Given the description of an element on the screen output the (x, y) to click on. 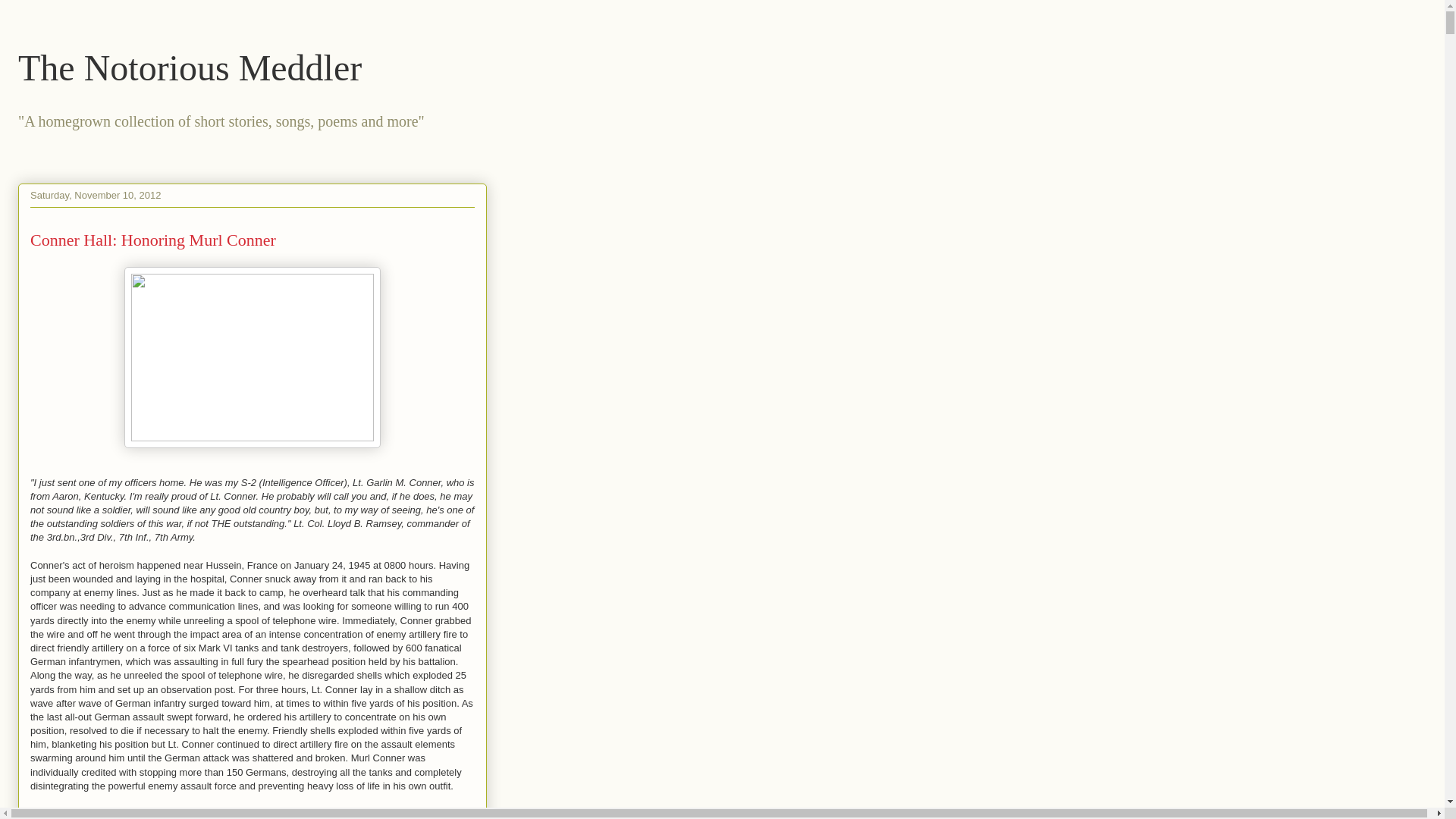
The Notorious Meddler (189, 67)
